Given the description of an element on the screen output the (x, y) to click on. 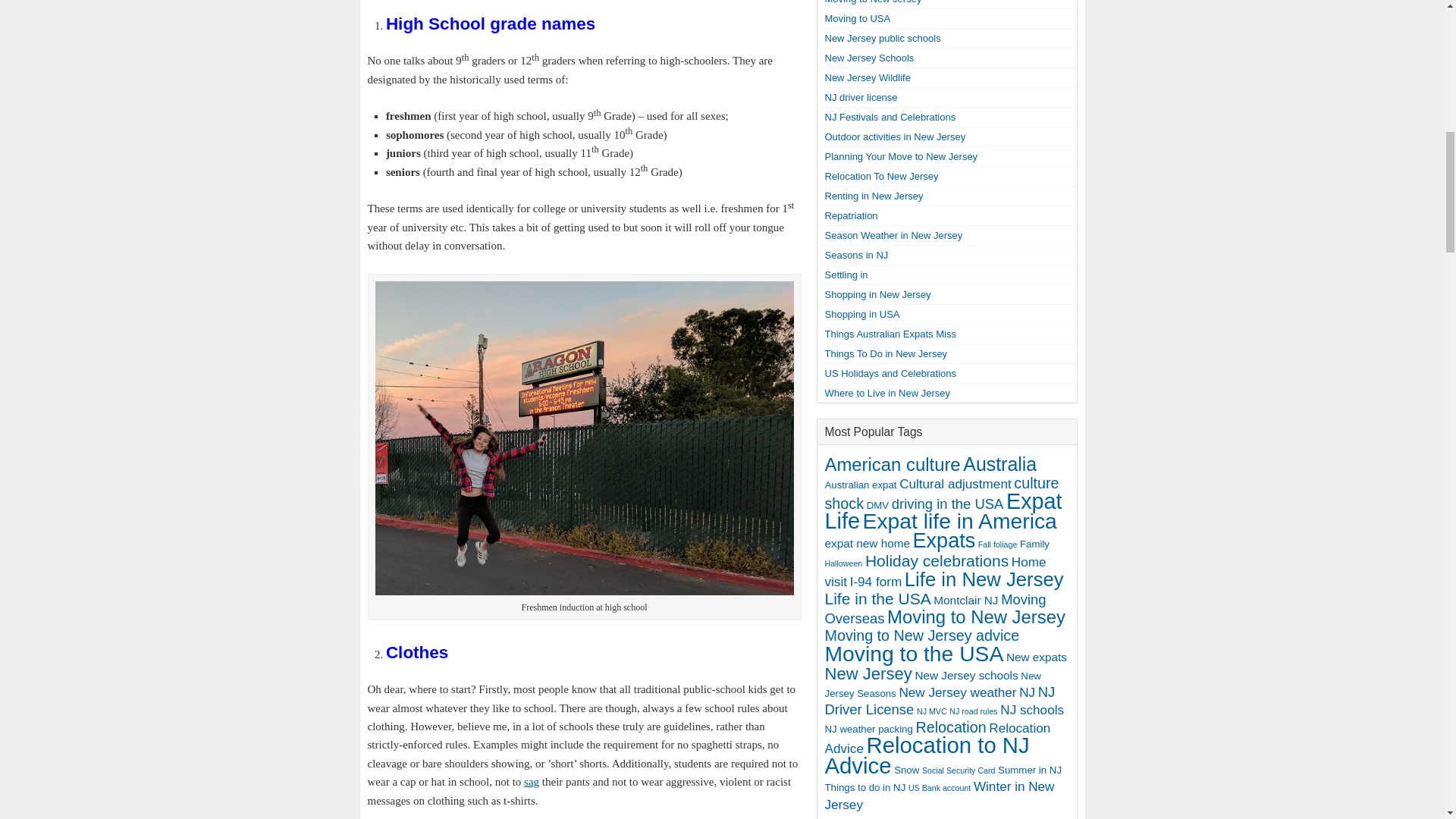
sag (531, 781)
